Given the description of an element on the screen output the (x, y) to click on. 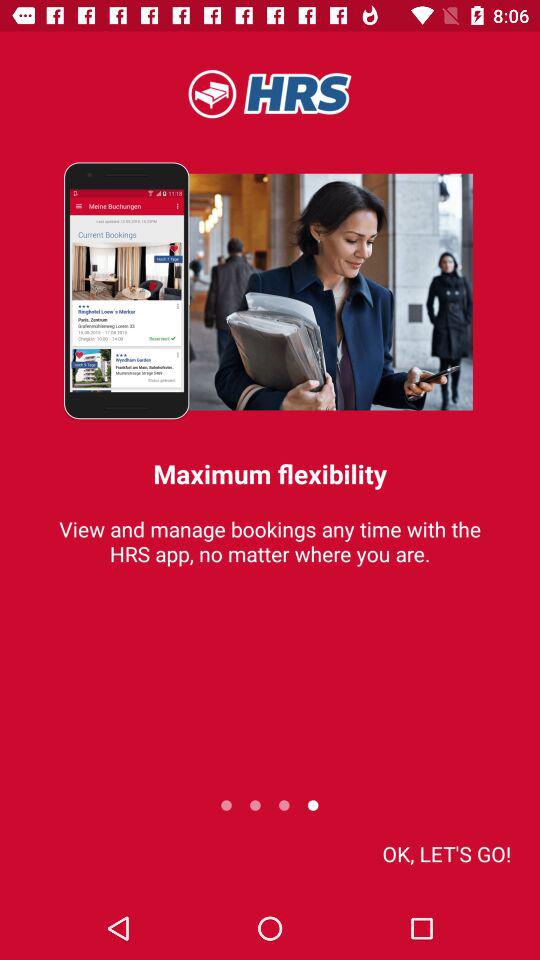
select the icon below view and manage item (446, 853)
